Given the description of an element on the screen output the (x, y) to click on. 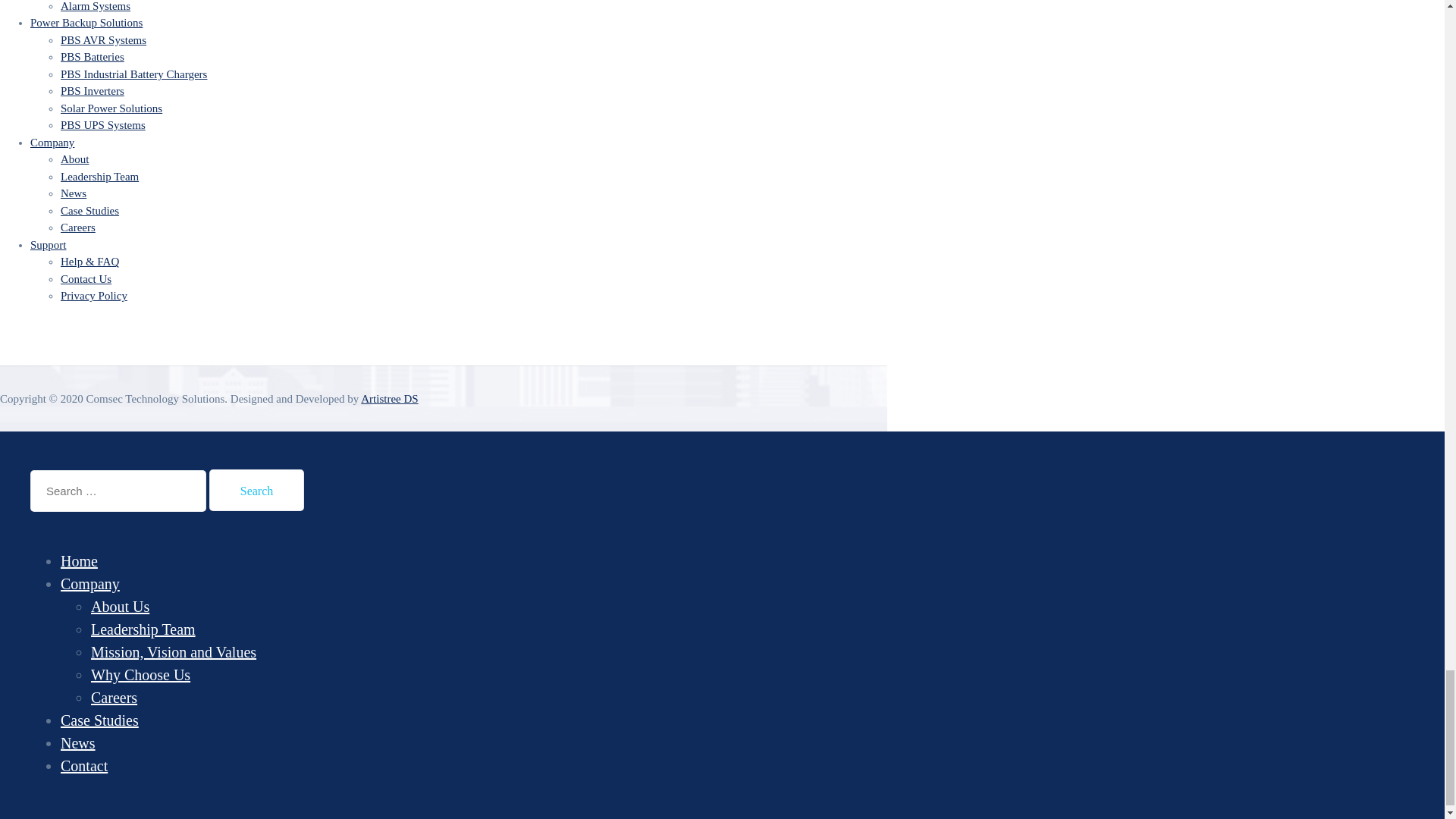
Search (256, 490)
Search (256, 490)
